Given the description of an element on the screen output the (x, y) to click on. 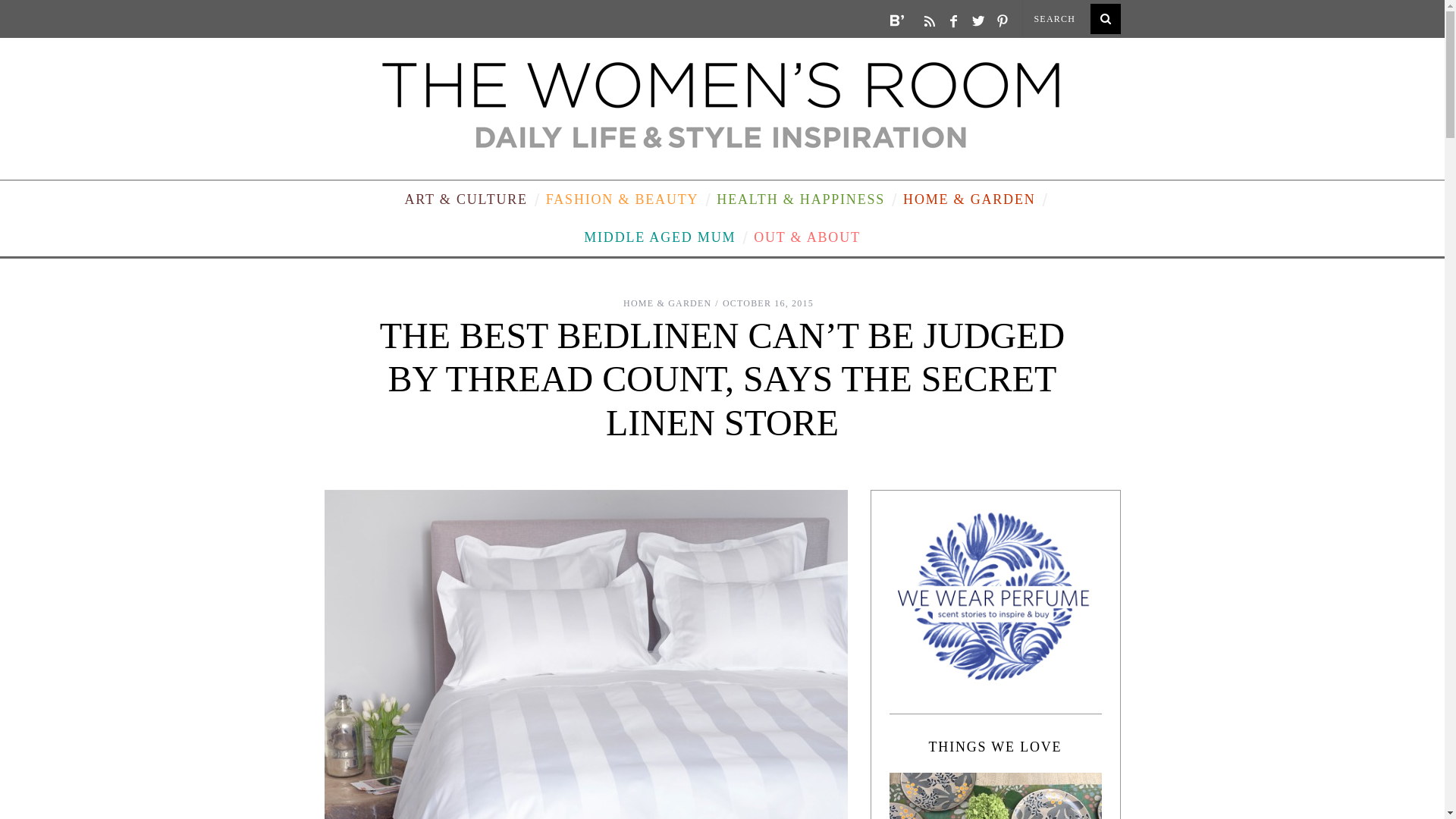
MIDDLE AGED MUM (659, 237)
Search (1071, 18)
